Given the description of an element on the screen output the (x, y) to click on. 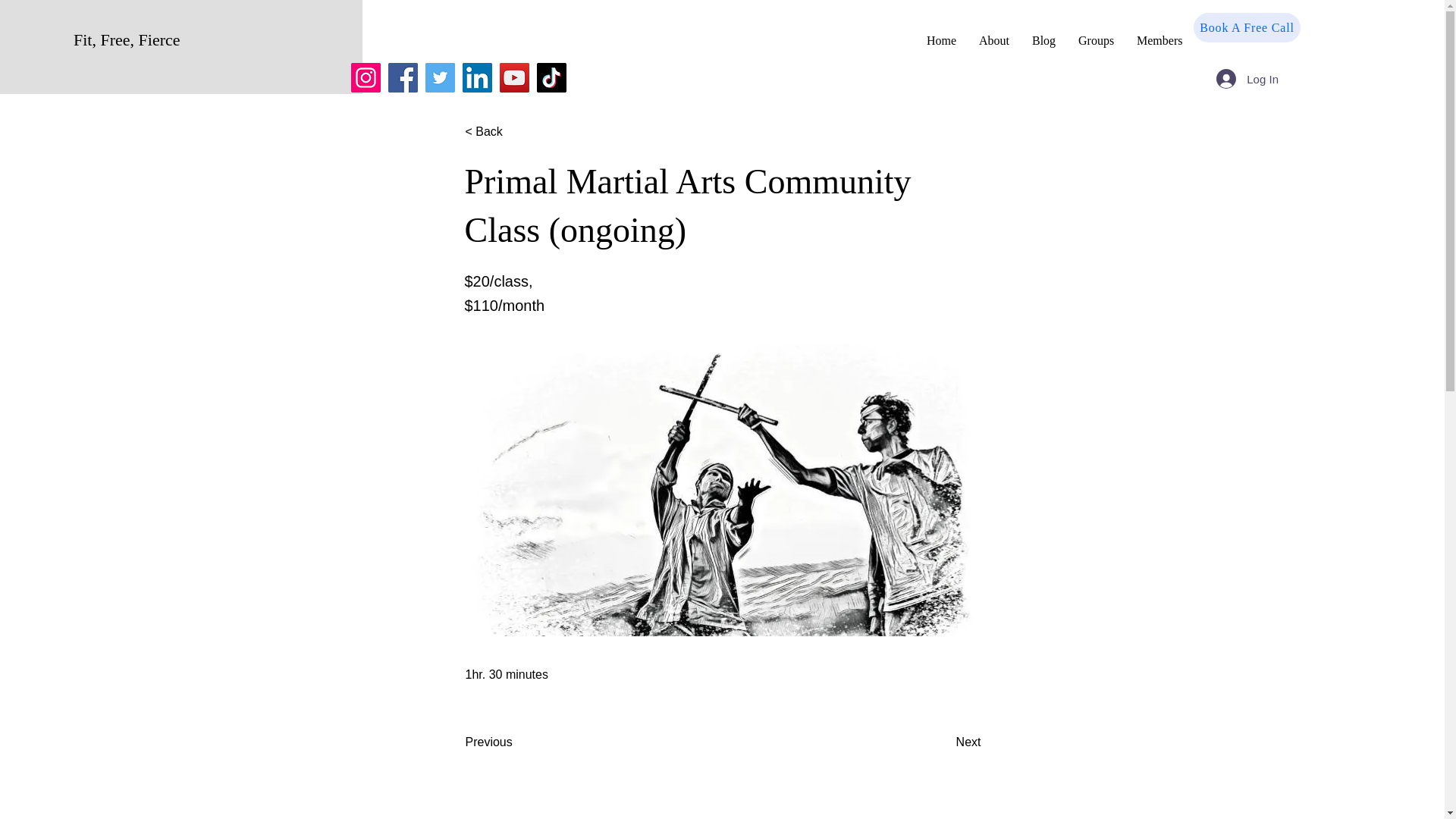
Members (1159, 40)
Log In (1246, 78)
Groups (1096, 40)
Fit, Free, Fierce (127, 39)
Home (941, 40)
Next (943, 742)
Blog (1043, 40)
Previous (515, 742)
About (994, 40)
